Given the description of an element on the screen output the (x, y) to click on. 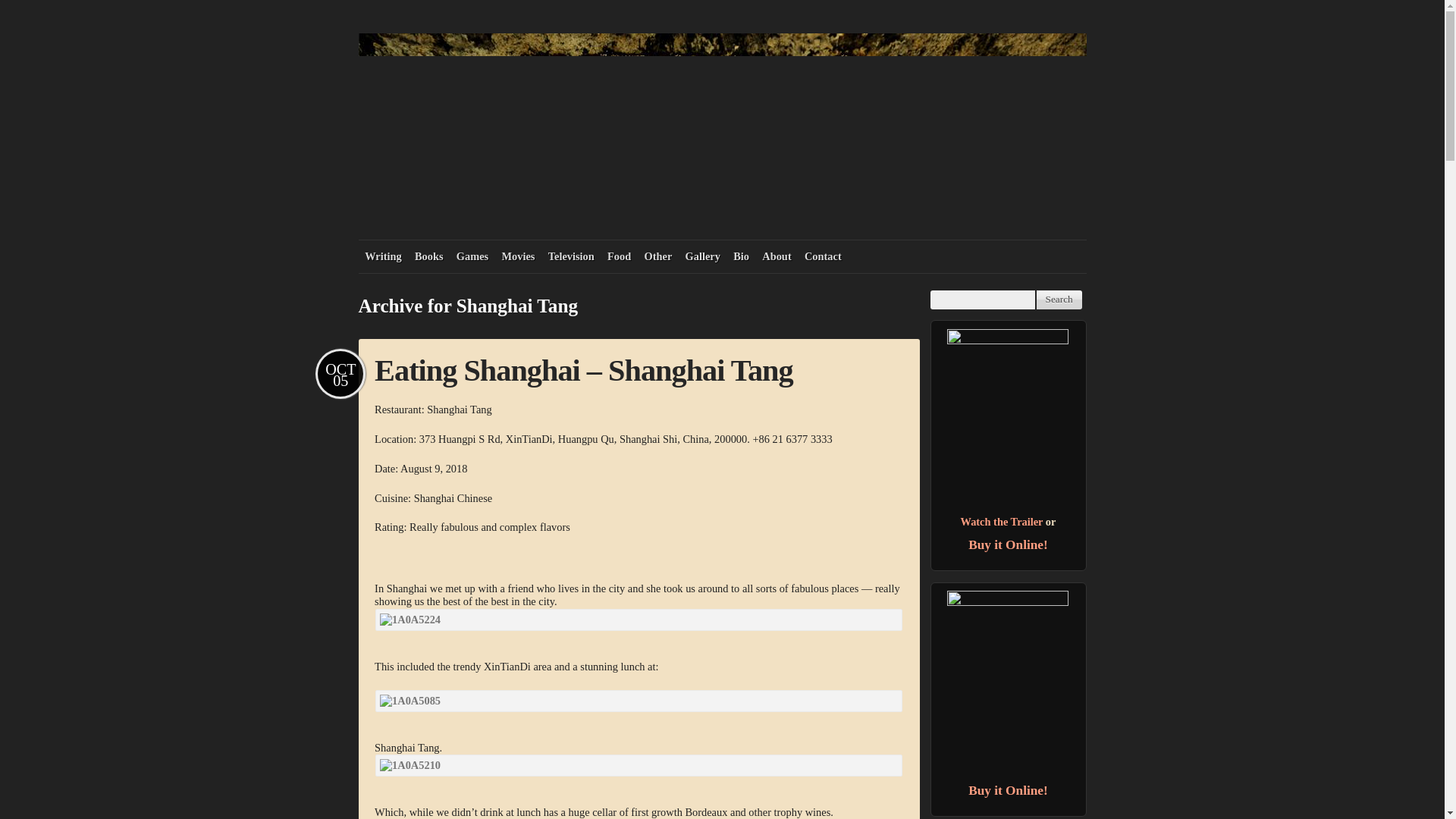
Books (428, 256)
Buy The Darkening Dream (1008, 789)
Writing (382, 256)
Buy Untimed (1008, 544)
Search (1058, 299)
Untimed (1007, 420)
The Darkening Dream (1007, 681)
